Given the description of an element on the screen output the (x, y) to click on. 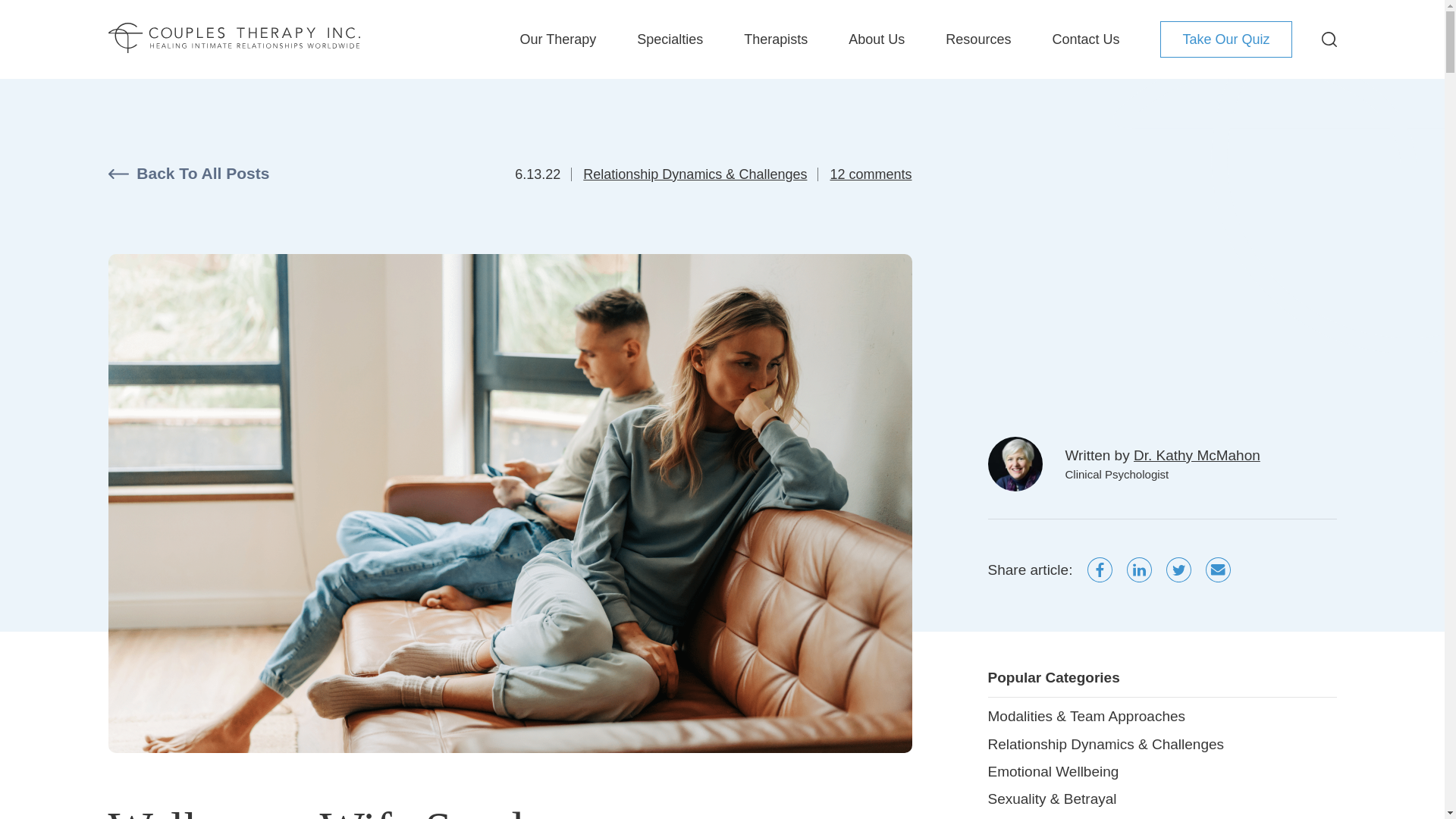
Contact Us (1085, 39)
Therapists (775, 39)
Specialties (669, 39)
About Us (876, 39)
Couples Therapy Inc. (233, 39)
Back To All Posts (188, 173)
Dr. Kathy McMahon (1197, 455)
Twitter (1178, 569)
Take Our Quiz (1225, 39)
LinkedIn (1138, 569)
12 comments (870, 173)
Facebook (1099, 569)
Resources (977, 39)
Our Therapy (557, 39)
Email (1217, 569)
